Given the description of an element on the screen output the (x, y) to click on. 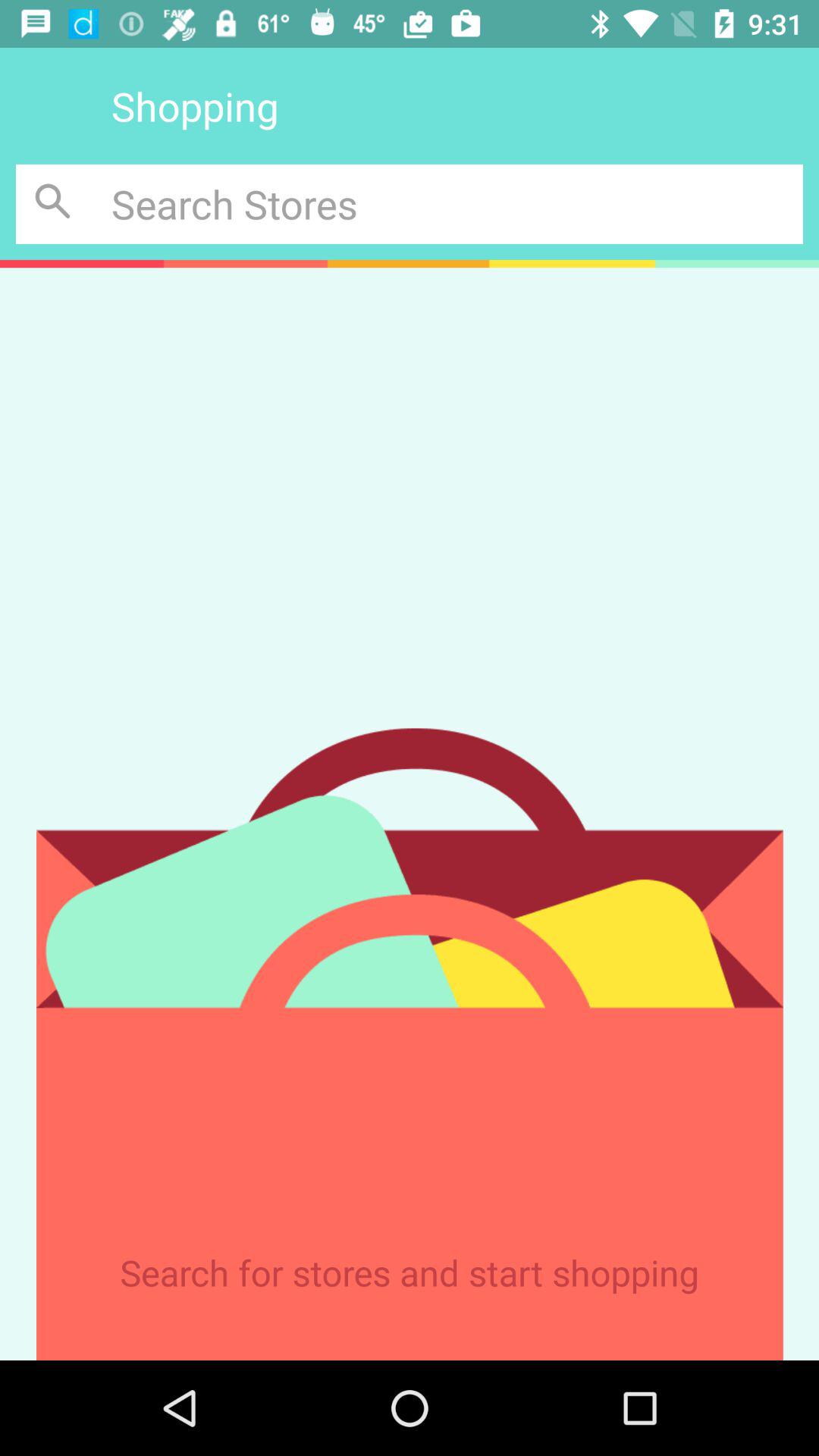
search bar (457, 203)
